Given the description of an element on the screen output the (x, y) to click on. 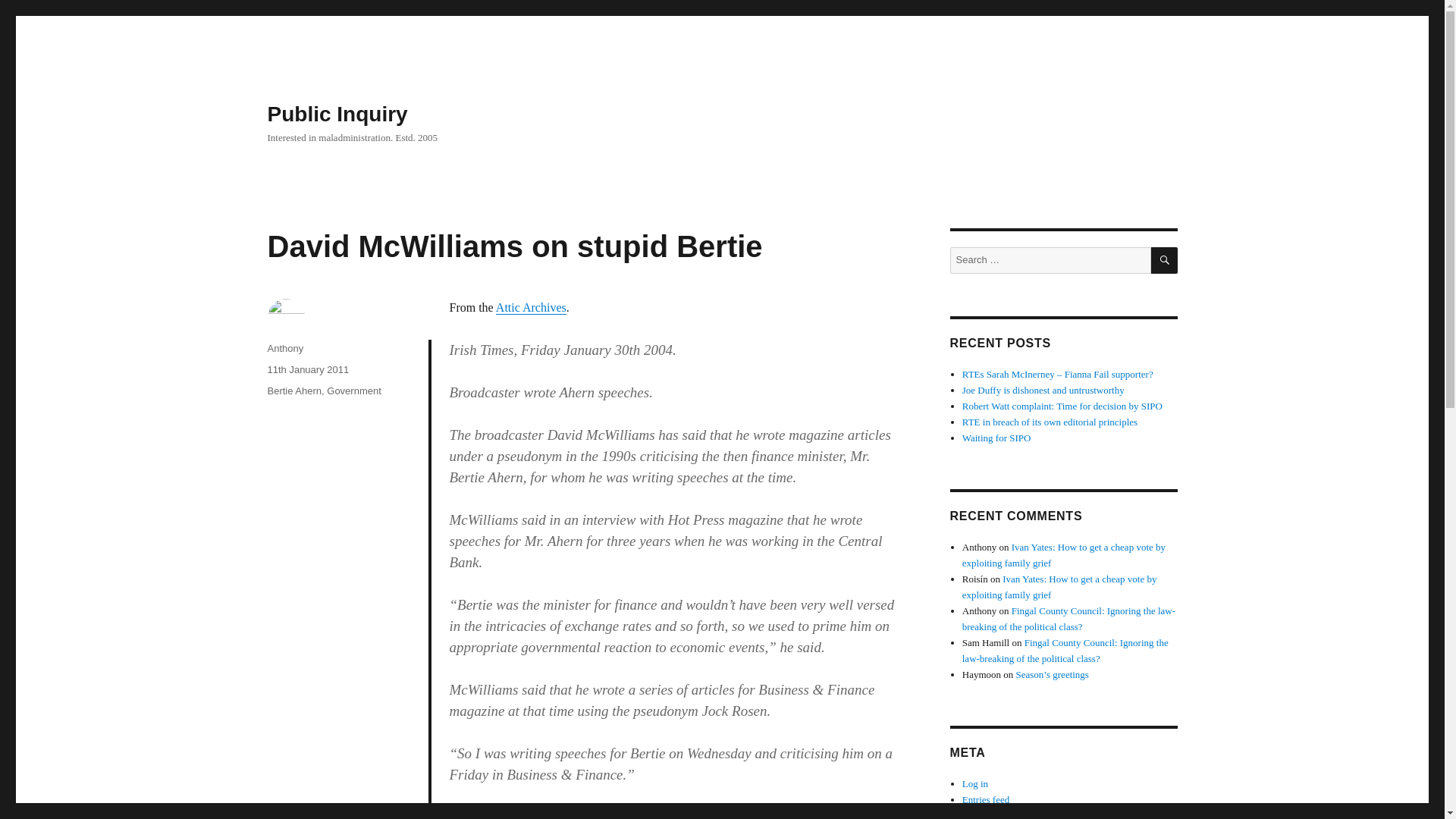
Joe Duffy is dishonest and untrustworthy (1043, 389)
Anthony (284, 348)
Public Inquiry (336, 114)
Bertie Ahern (293, 390)
Waiting for SIPO (996, 437)
Robert Watt complaint: Time for decision by SIPO (1061, 405)
11th January 2011 (307, 369)
Log in (975, 783)
